Given the description of an element on the screen output the (x, y) to click on. 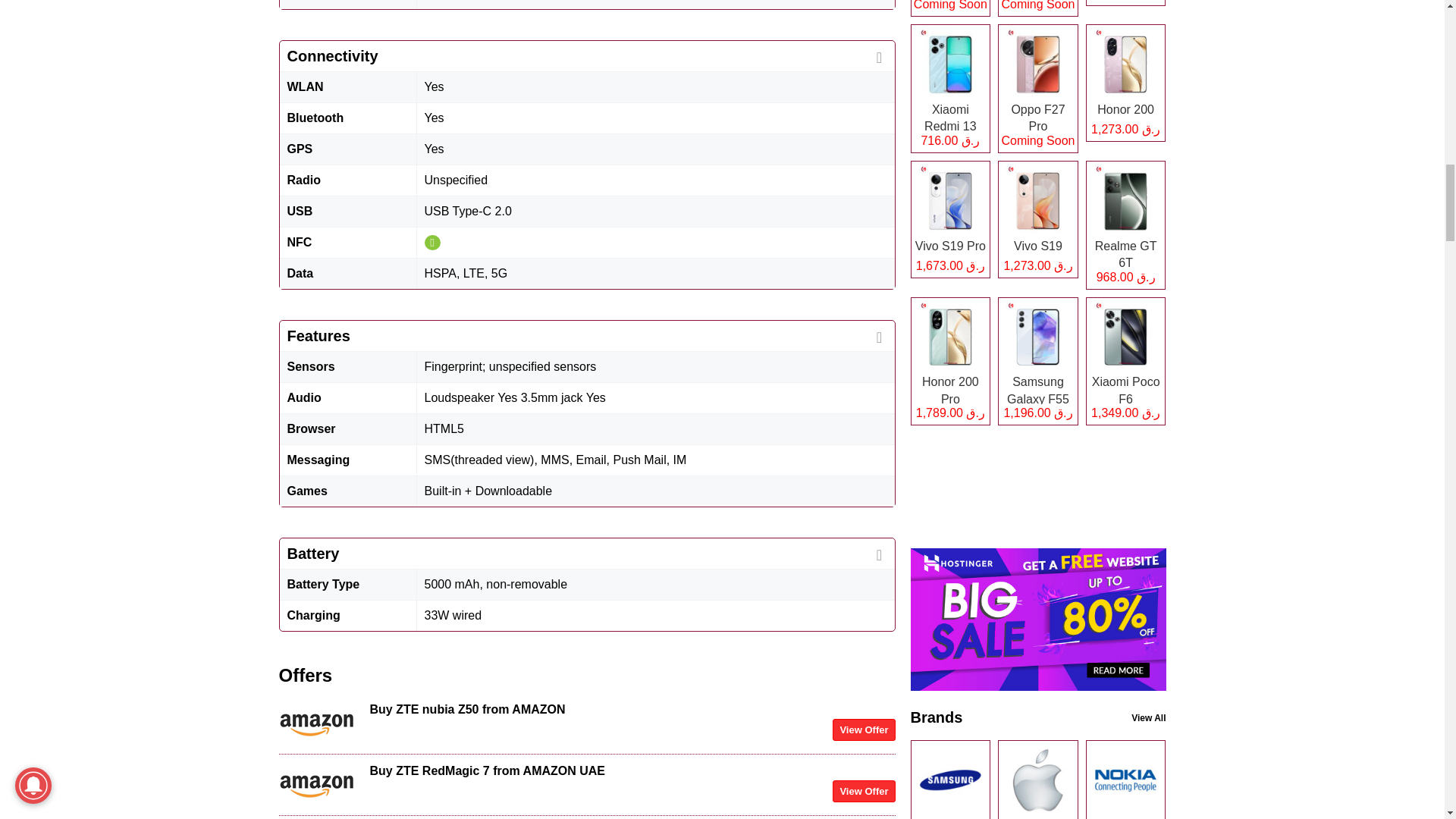
Realme GT6 (1126, 2)
Apple iPhone 16 Pro Max (950, 8)
Xiaomi Redmi 13 (950, 88)
View Offer (863, 730)
View Offer (863, 791)
Oppo F27 Pro (1037, 88)
